Given the description of an element on the screen output the (x, y) to click on. 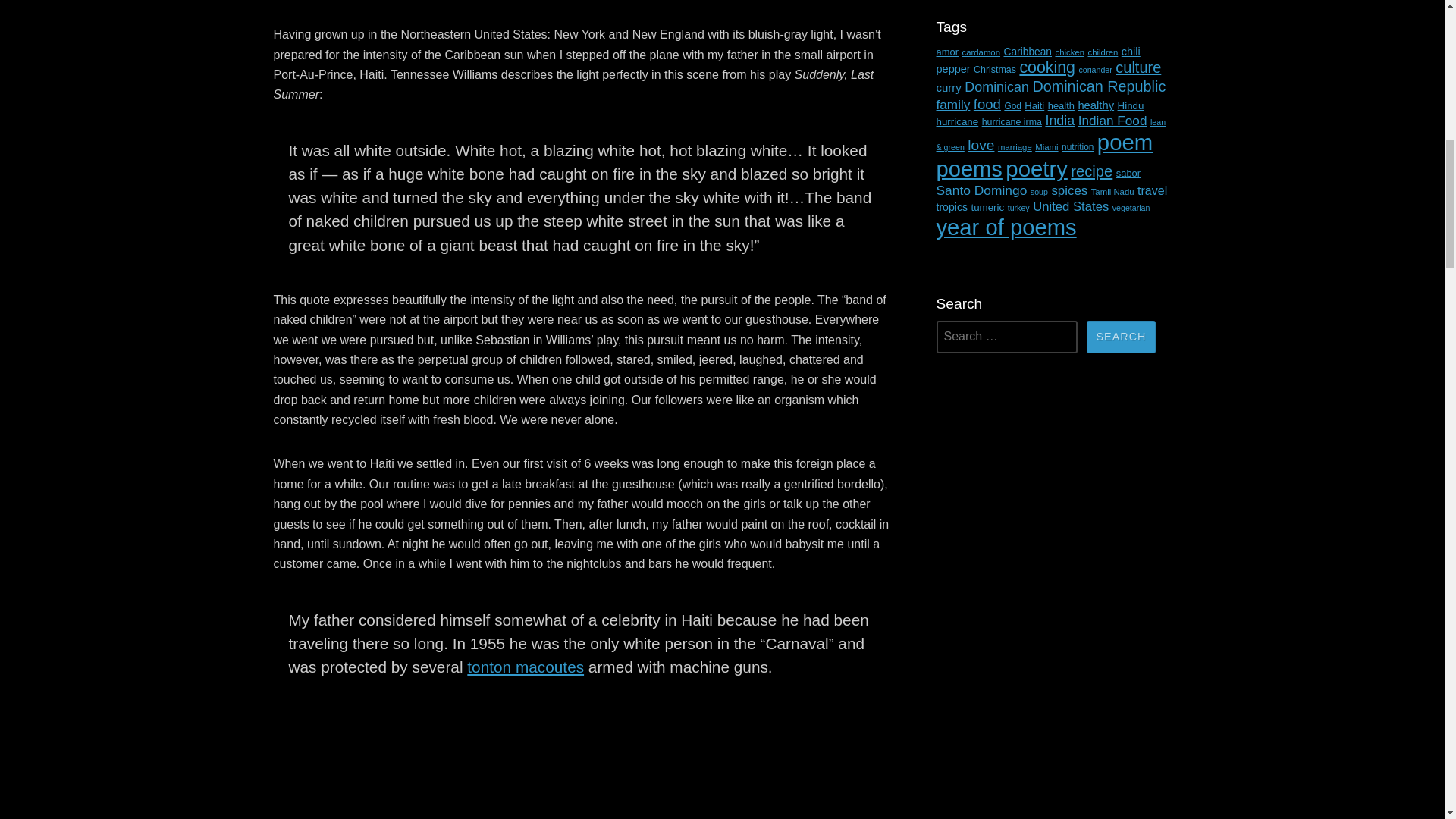
tonton macoutes (525, 666)
Search (1121, 336)
